Given the description of an element on the screen output the (x, y) to click on. 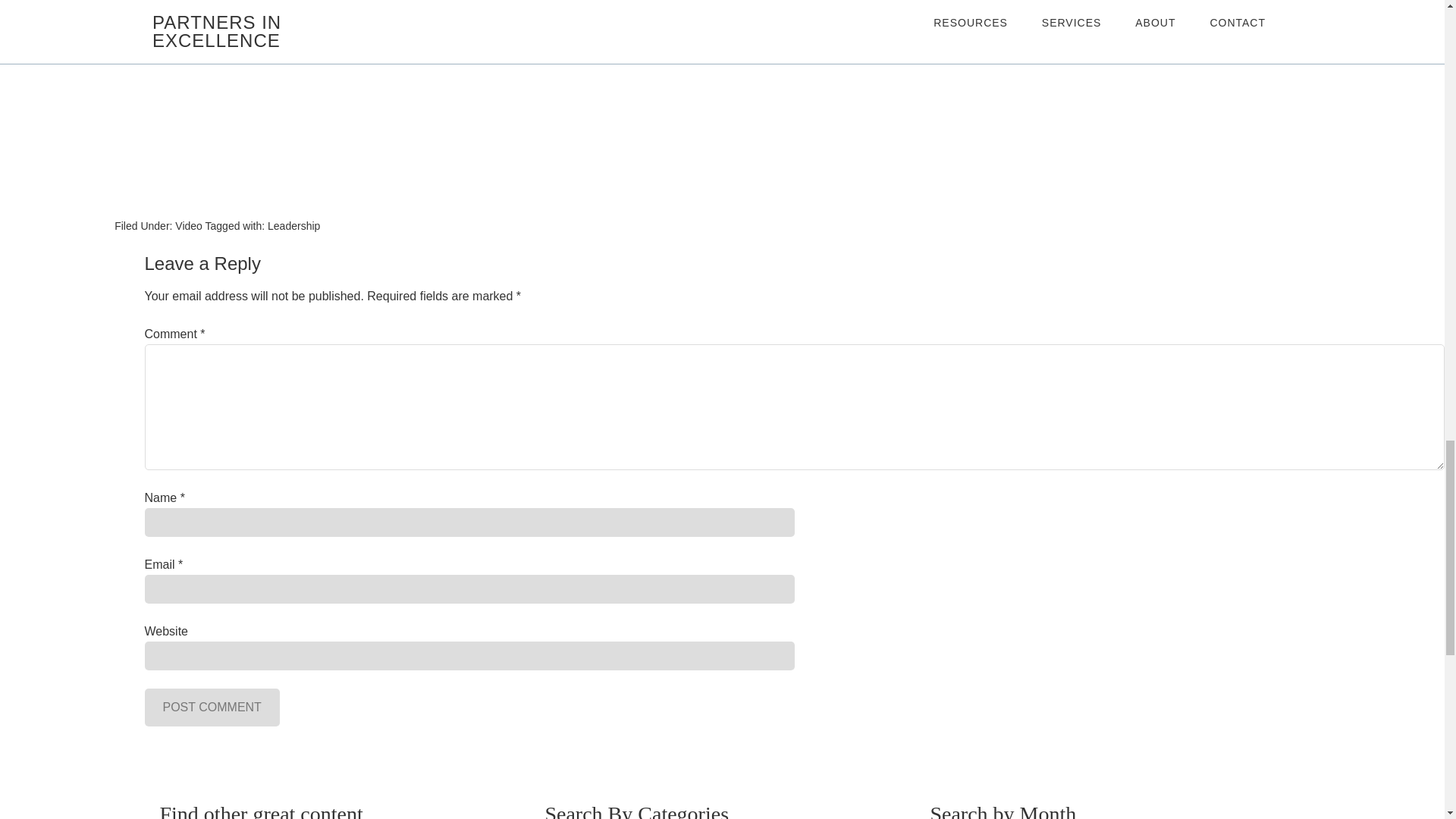
Post Comment (211, 707)
Video (188, 225)
Post Comment (211, 707)
Leadership (293, 225)
